Given the description of an element on the screen output the (x, y) to click on. 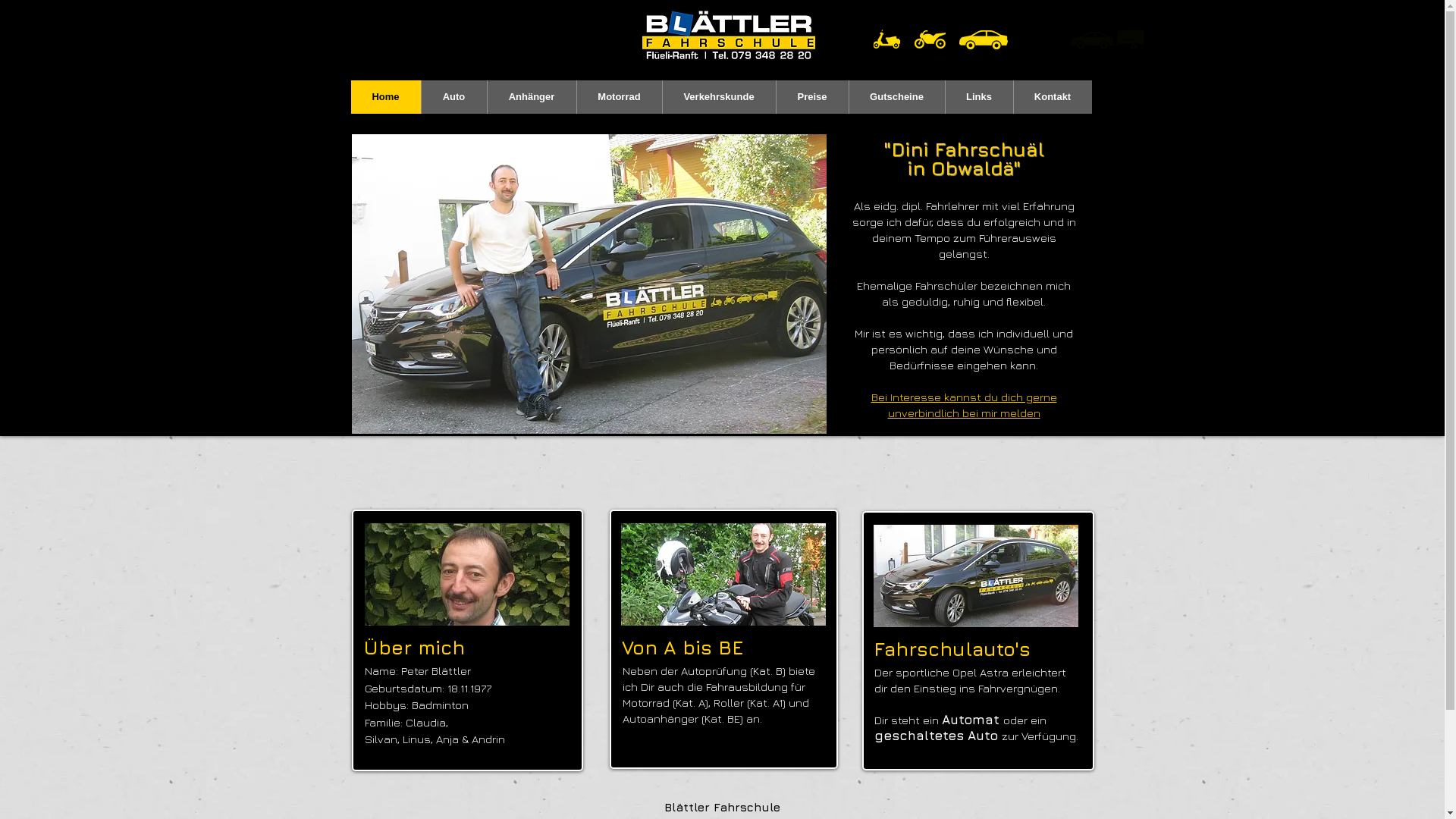
Kontakt Element type: text (1052, 96)
Peter_270x135.jpg Element type: hover (466, 574)
Gutscheine Element type: text (895, 96)
Corsa_270x135.jpg Element type: hover (975, 575)
Links Element type: text (978, 96)
Preise Element type: text (811, 96)
Motorrad Element type: text (619, 96)
Verkehrskunde Element type: text (718, 96)
LogoSchwart_376x117.png Element type: hover (727, 34)
Motorrad Fahrlehrer Element type: hover (722, 574)
Auto Element type: text (453, 96)
Home Element type: text (385, 96)
